Given the description of an element on the screen output the (x, y) to click on. 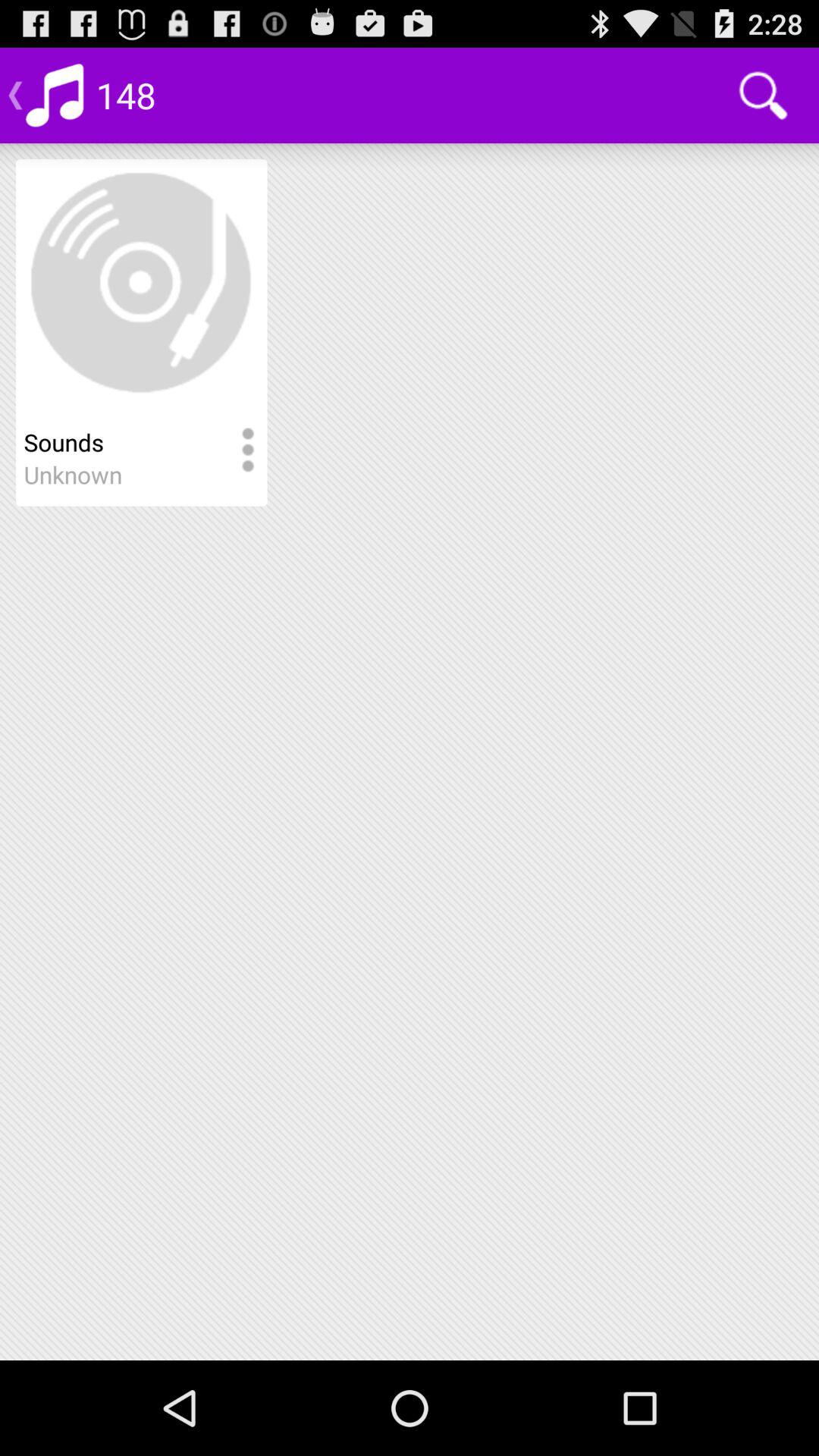
turn off app next to sounds (247, 450)
